Given the description of an element on the screen output the (x, y) to click on. 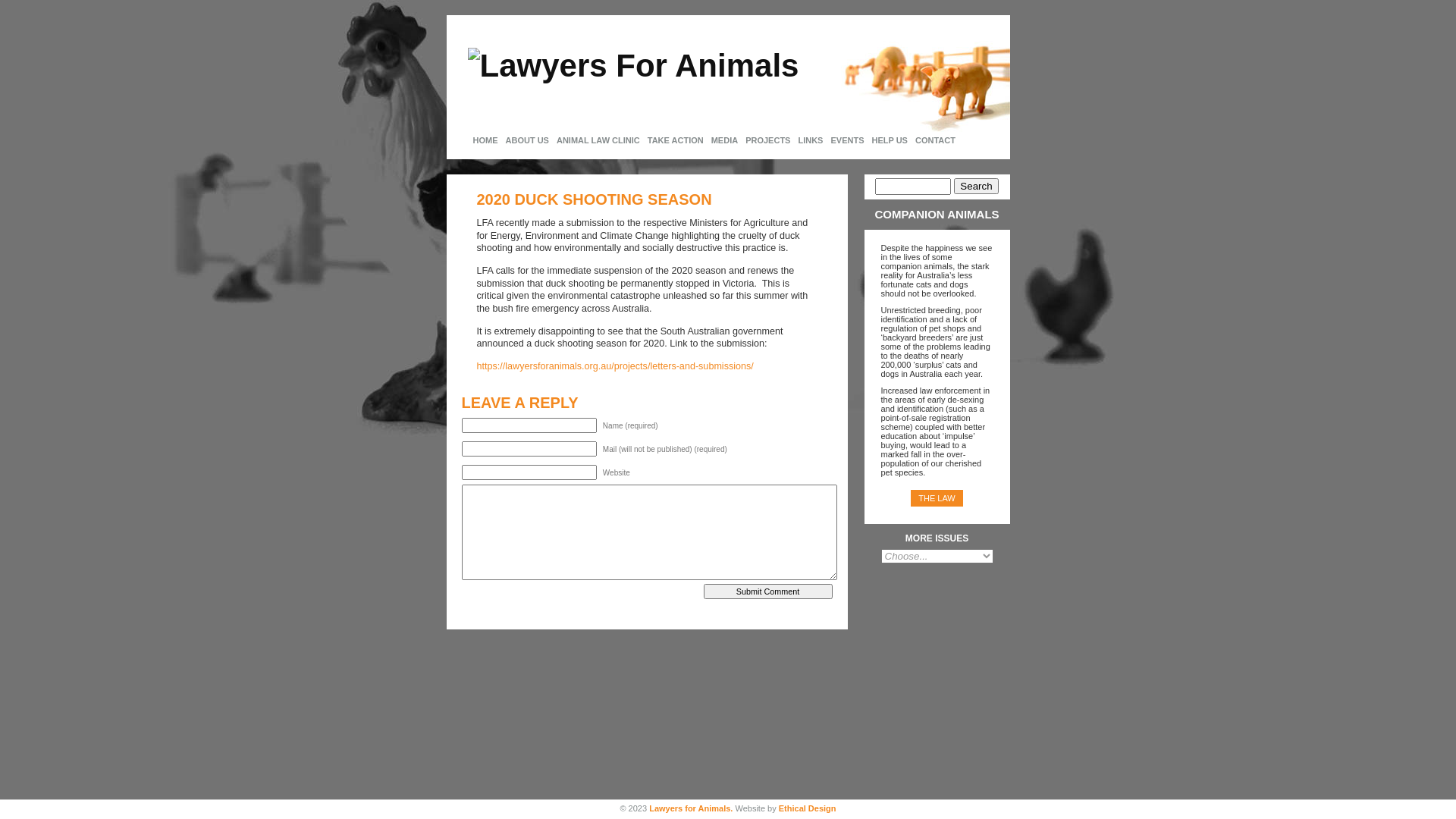
PROJECTS Element type: text (767, 140)
TAKE ACTION Element type: text (675, 140)
ABOUT US Element type: text (527, 140)
Lawyers for Animals. Element type: text (690, 807)
MEDIA Element type: text (724, 140)
LINKS Element type: text (809, 140)
Search Element type: text (975, 186)
ANIMAL LAW CLINIC Element type: text (597, 140)
Ethical Design Element type: text (807, 807)
THE LAW Element type: text (936, 497)
HOME Element type: text (484, 140)
EVENTS Element type: text (846, 140)
Submit Comment Element type: text (767, 591)
HELP US Element type: text (888, 140)
CONTACT Element type: text (935, 140)
